Given the description of an element on the screen output the (x, y) to click on. 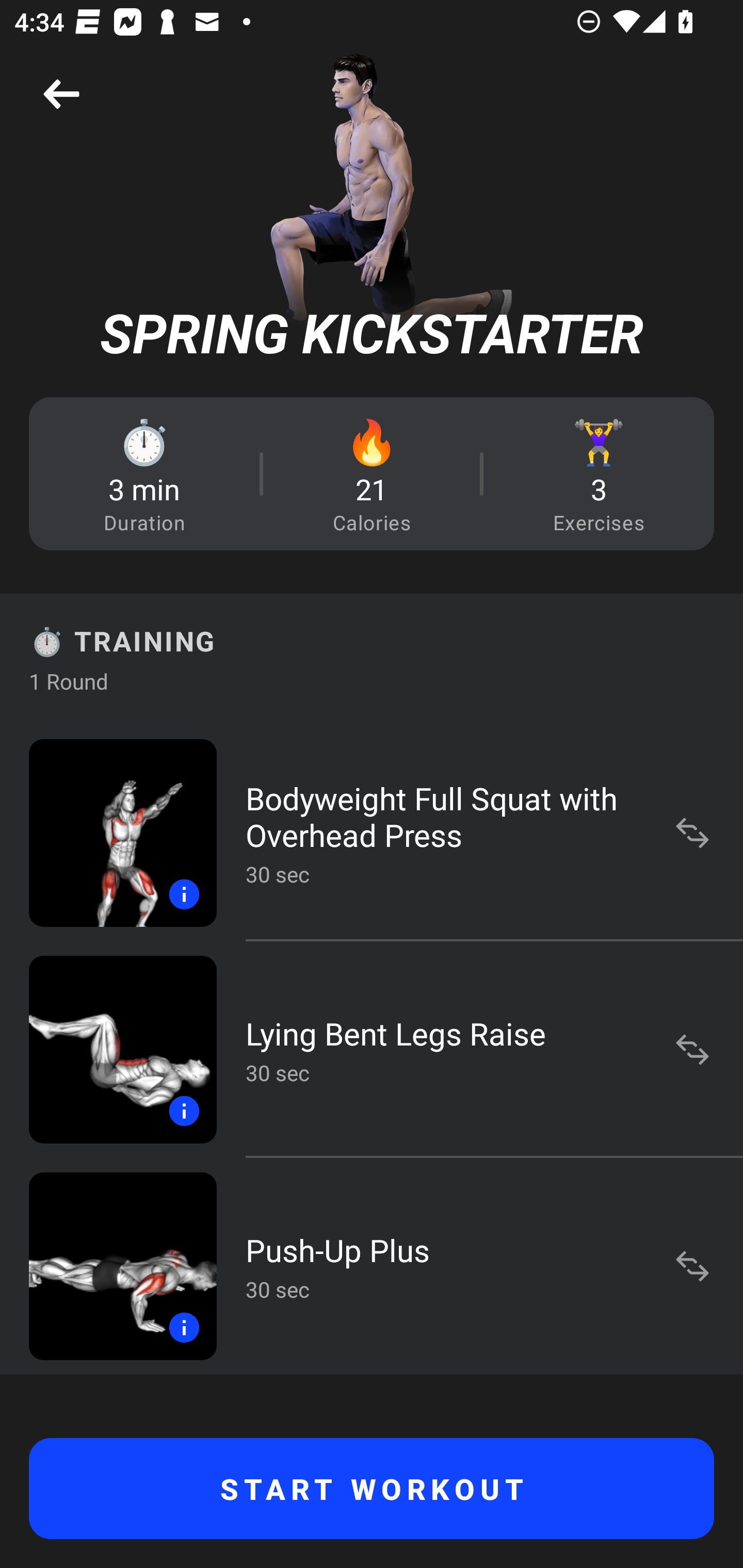
Bodyweight Full Squat with Overhead Press 30 sec (371, 832)
Lying Bent Legs Raise 30 sec (371, 1048)
Push-Up Plus 30 sec (371, 1266)
START WORKOUT (371, 1488)
